Given the description of an element on the screen output the (x, y) to click on. 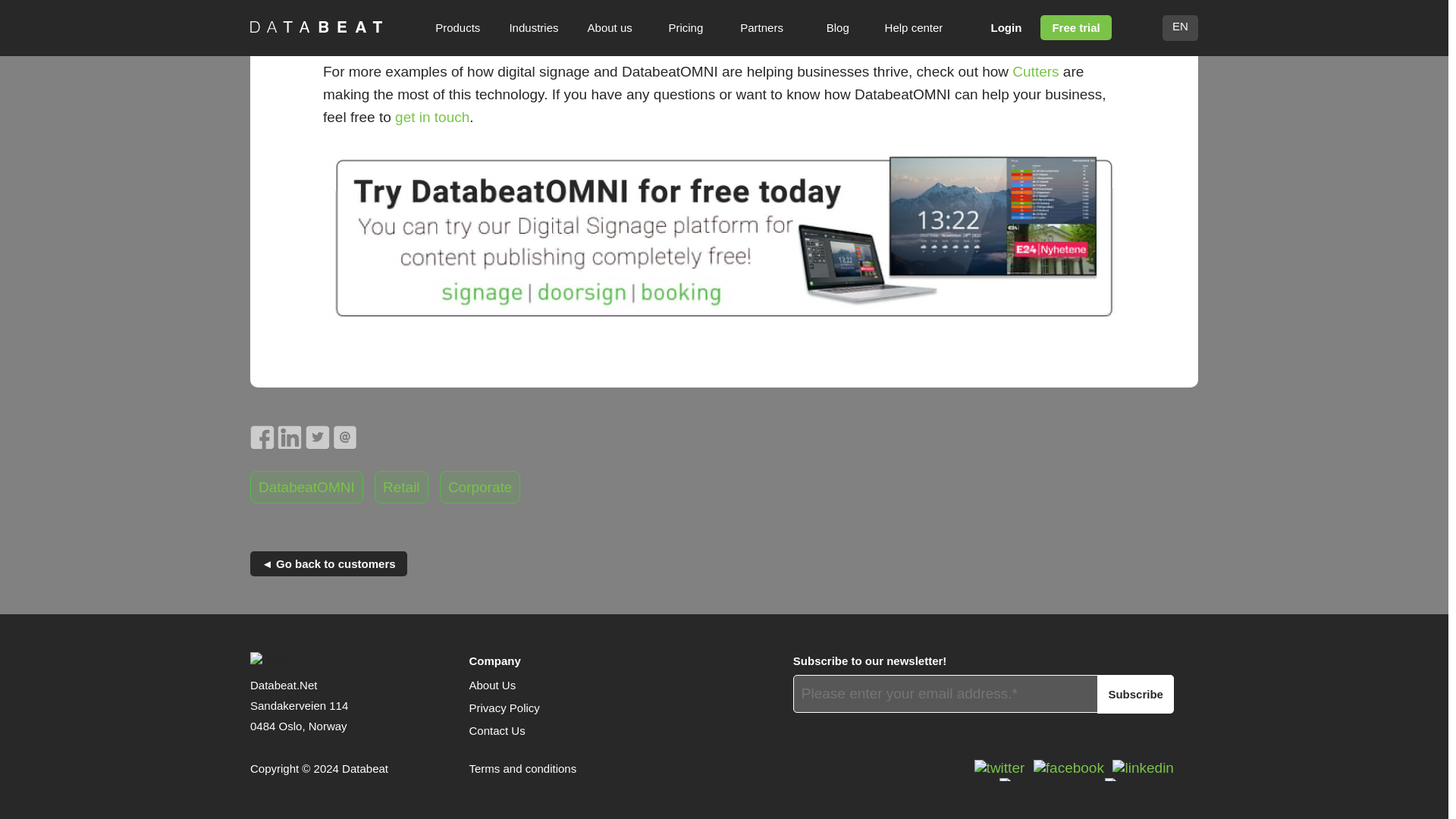
Subscribe (1135, 693)
